Given the description of an element on the screen output the (x, y) to click on. 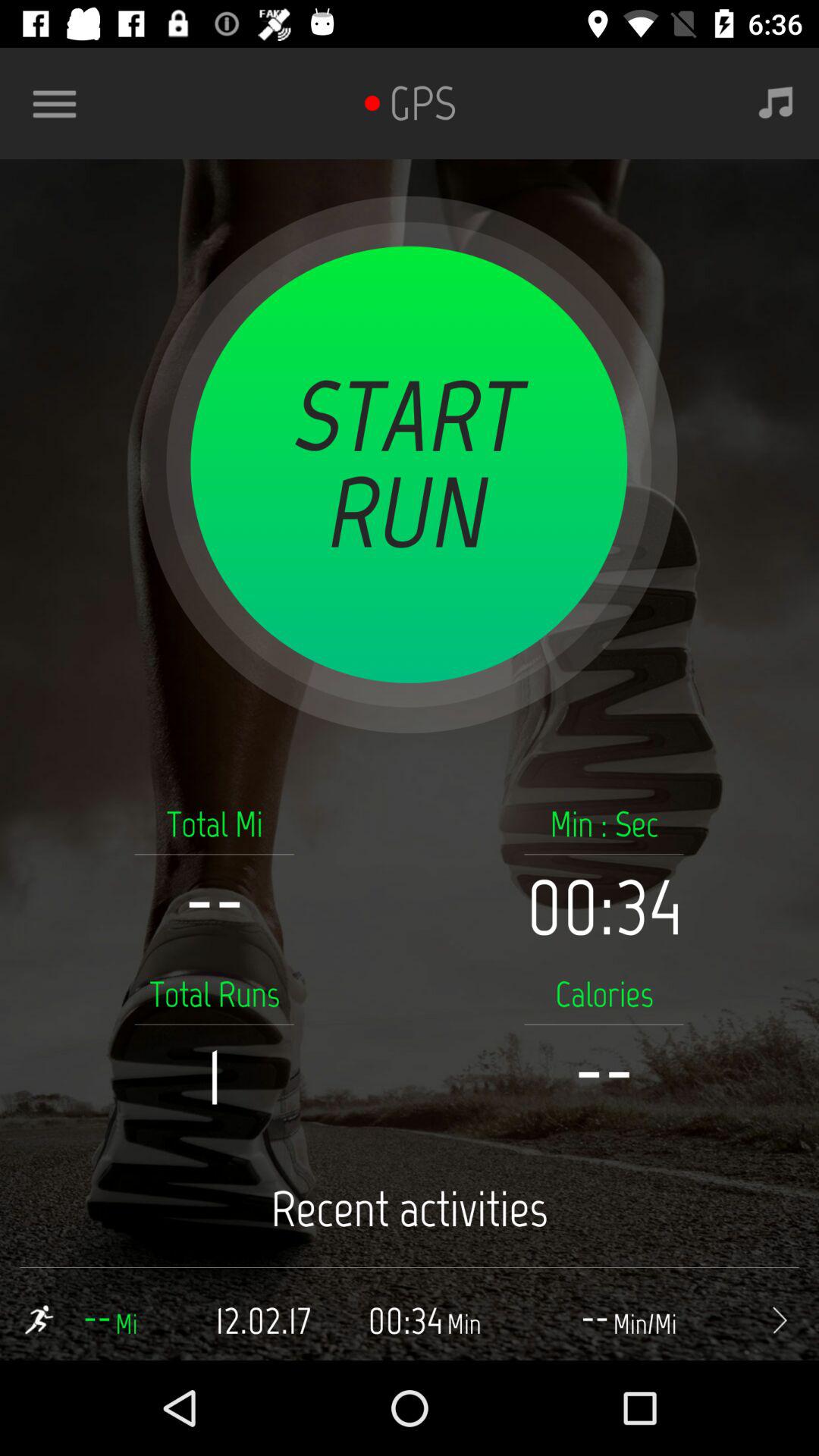
click on the icon next to the gps (372, 103)
select the music icon on the top right corner (775, 103)
